Given the description of an element on the screen output the (x, y) to click on. 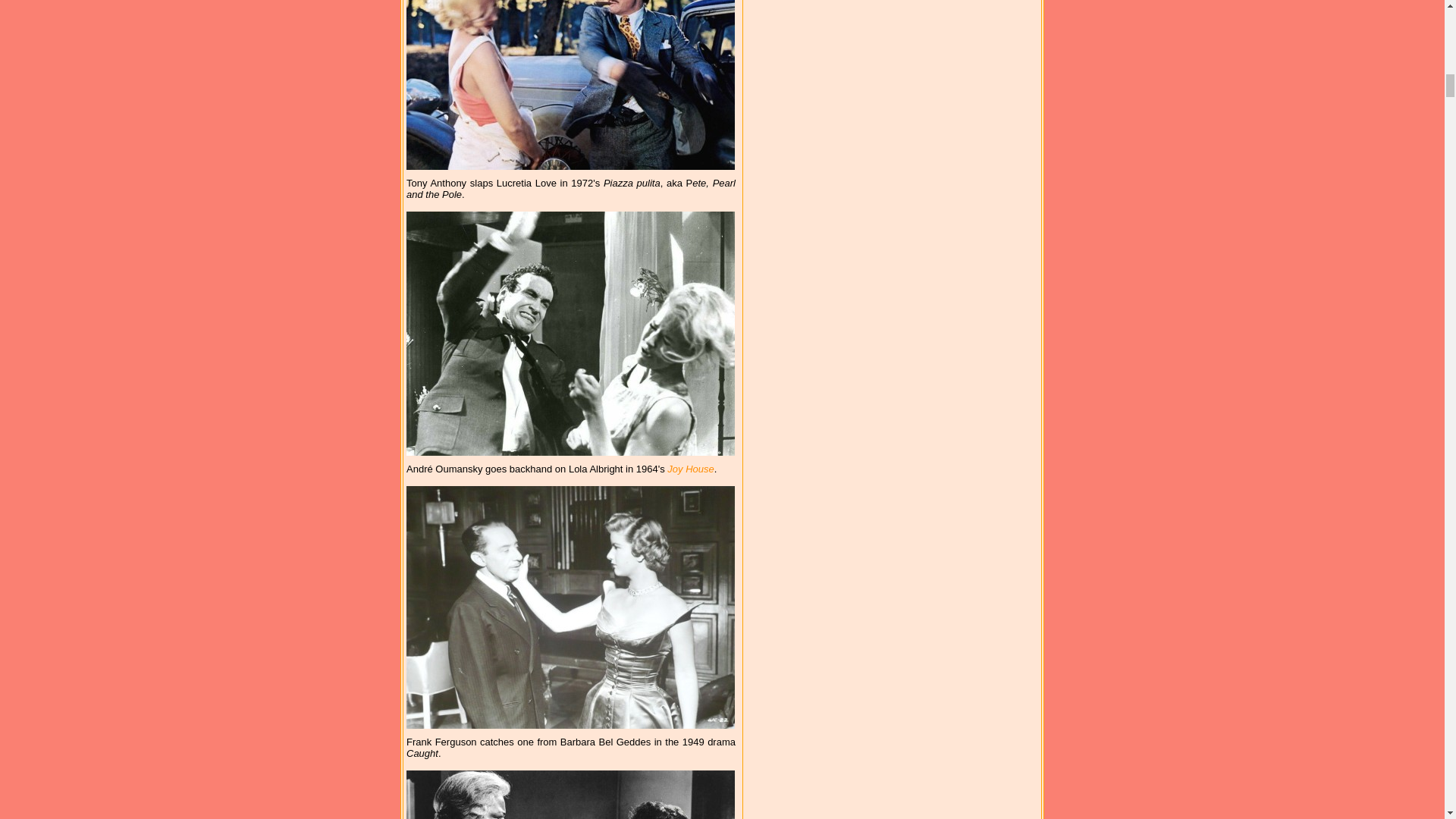
Joy House (689, 469)
